Given the description of an element on the screen output the (x, y) to click on. 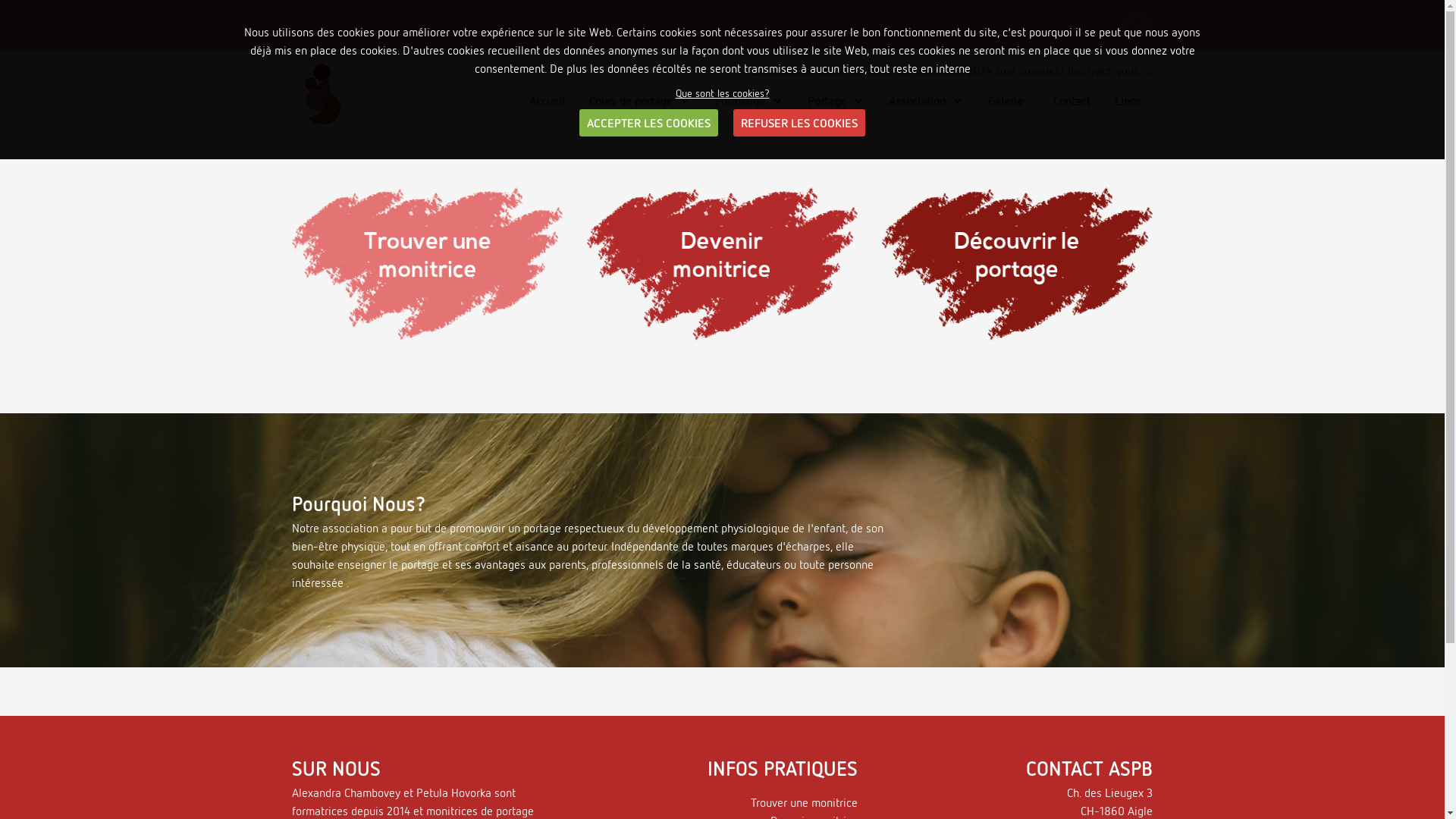
Association Element type: text (925, 100)
Cours de portage Element type: text (639, 100)
Accueil Element type: text (547, 100)
ici Element type: text (1147, 70)
Que sont les cookies? Element type: text (721, 92)
Liens Element type: text (1127, 100)
Formation Element type: text (748, 100)
Trouver une monitrice Element type: text (803, 801)
Portage Element type: text (834, 100)
ACCEPTER LES COOKIES Element type: text (648, 122)
REFUSER LES COOKIES Element type: text (799, 122)
Galerie Element type: text (1004, 100)
Contact Element type: text (1067, 100)
